Given the description of an element on the screen output the (x, y) to click on. 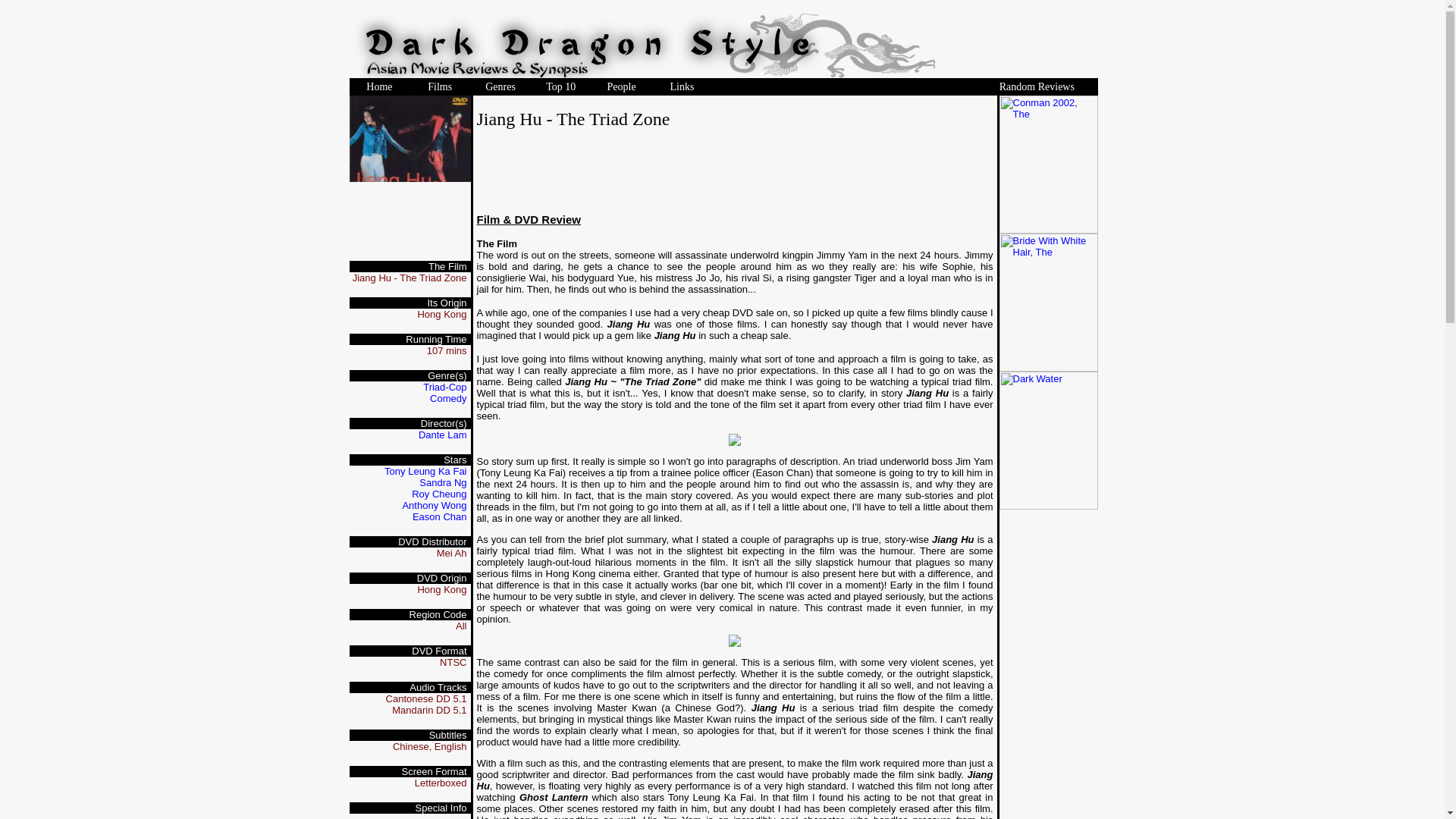
Top 10 (560, 85)
Links (681, 85)
Anthony Wong (433, 505)
Eason Chan (439, 516)
Dante Lam (443, 434)
Roy Cheung (438, 493)
Genres (499, 85)
Home (378, 85)
Tony Leung Ka Fai (424, 471)
Sandra Ng (442, 482)
Triad-Cop (444, 387)
Comedy (447, 398)
